Given the description of an element on the screen output the (x, y) to click on. 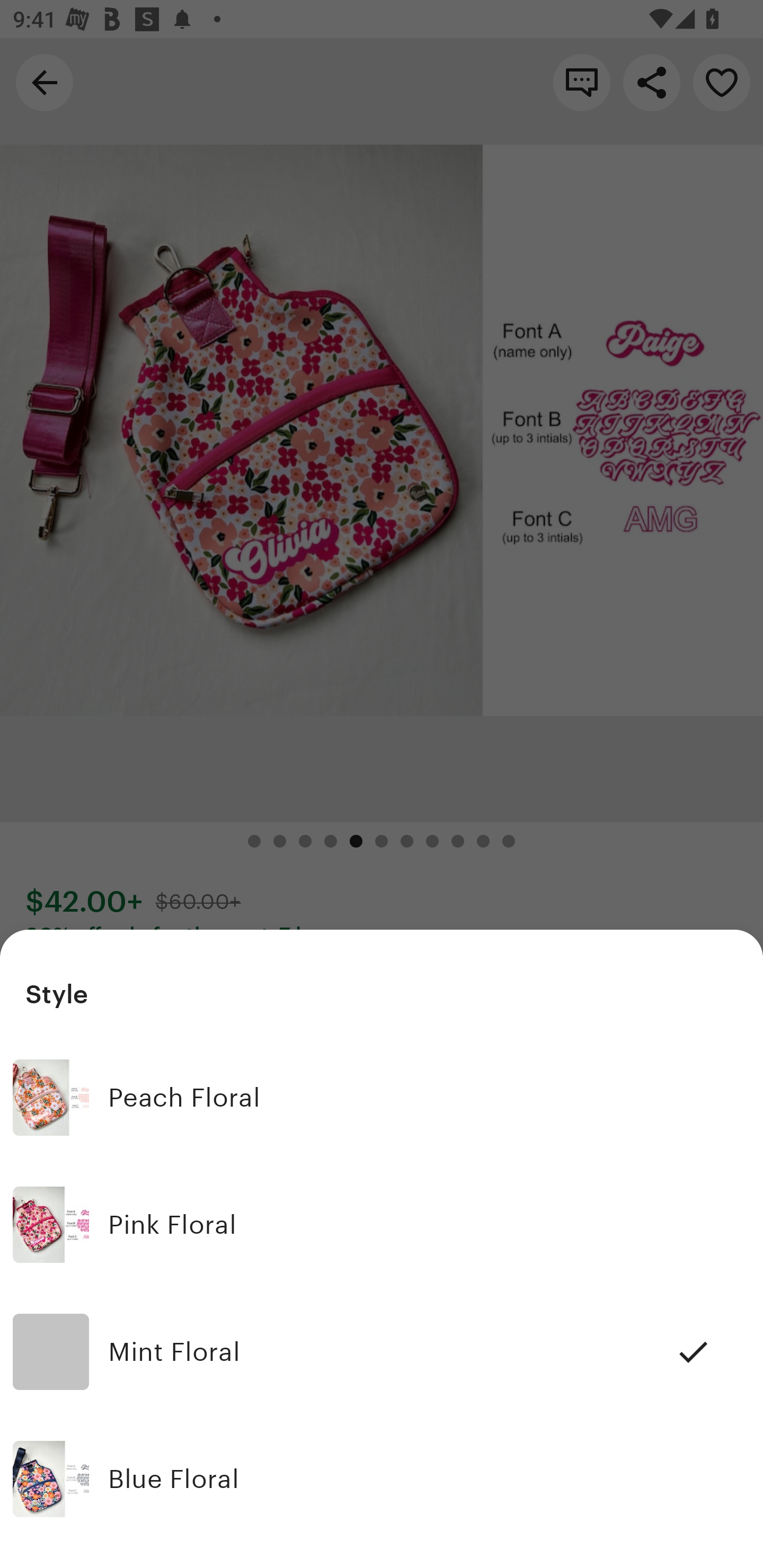
Peach Floral (381, 1097)
Pink Floral (381, 1224)
Mint Floral Selected (381, 1351)
Blue Floral (381, 1478)
